Given the description of an element on the screen output the (x, y) to click on. 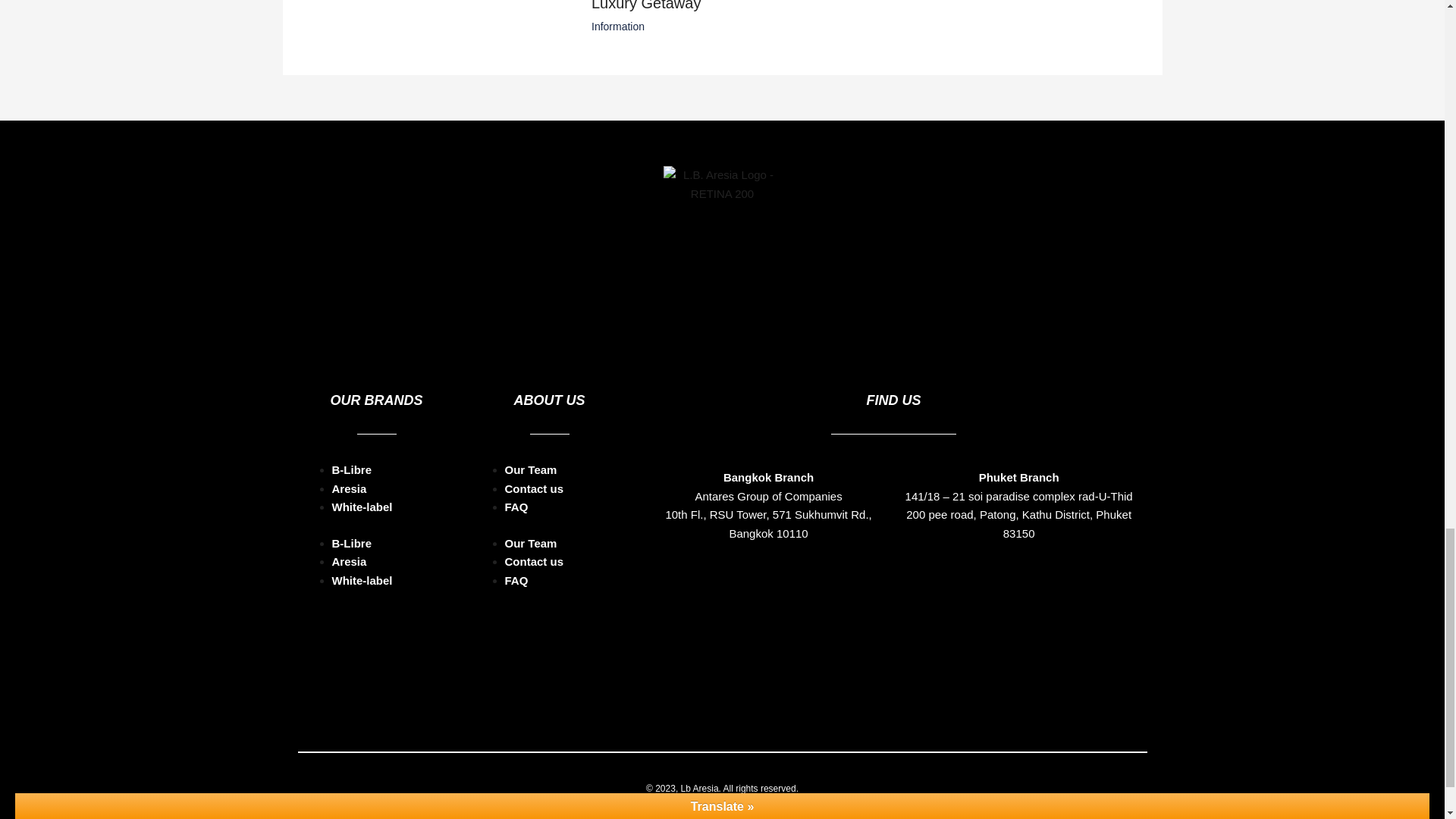
B-Libre (351, 480)
B-Libre (351, 406)
Aresia (348, 425)
White-label (362, 517)
White-label (362, 444)
Melki.Biz Web Design (763, 744)
Aresia (348, 499)
